Given the description of an element on the screen output the (x, y) to click on. 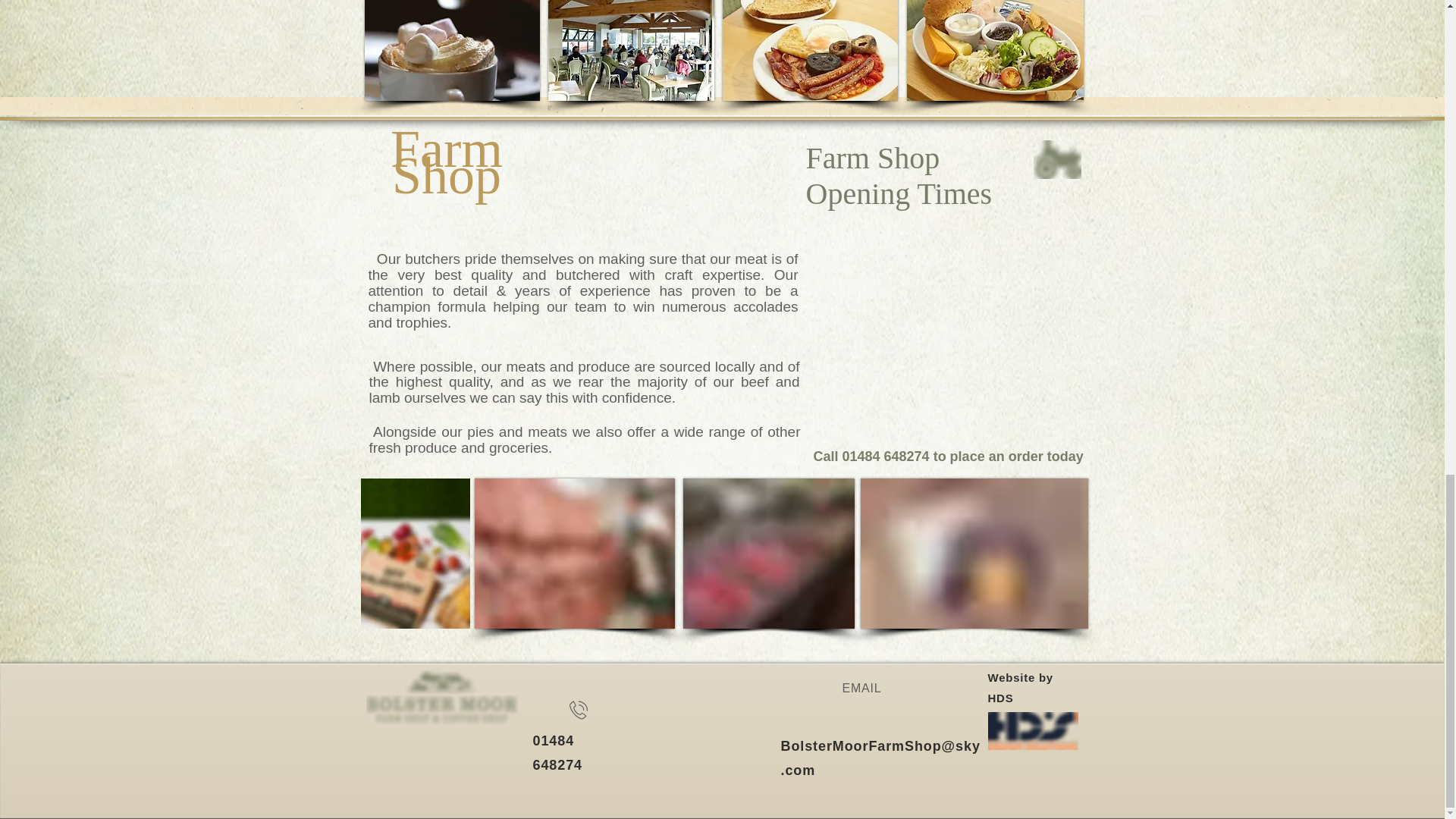
01484 648274 (556, 753)
Farm Shop (446, 161)
Website by HDS (1019, 687)
